Given the description of an element on the screen output the (x, y) to click on. 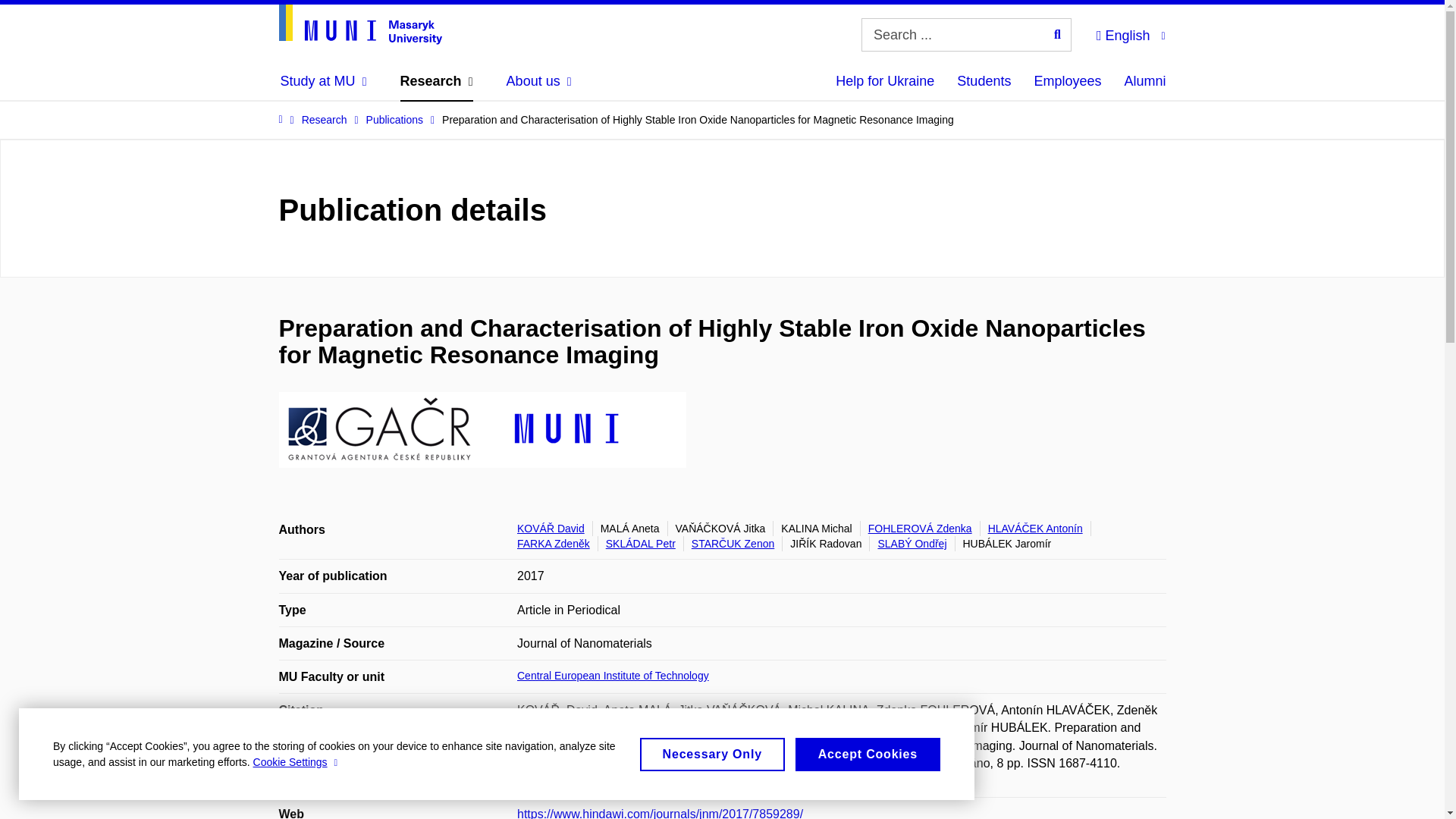
Homepage site (360, 24)
Study at MU (323, 80)
English (1130, 34)
Research (436, 80)
